Given the description of an element on the screen output the (x, y) to click on. 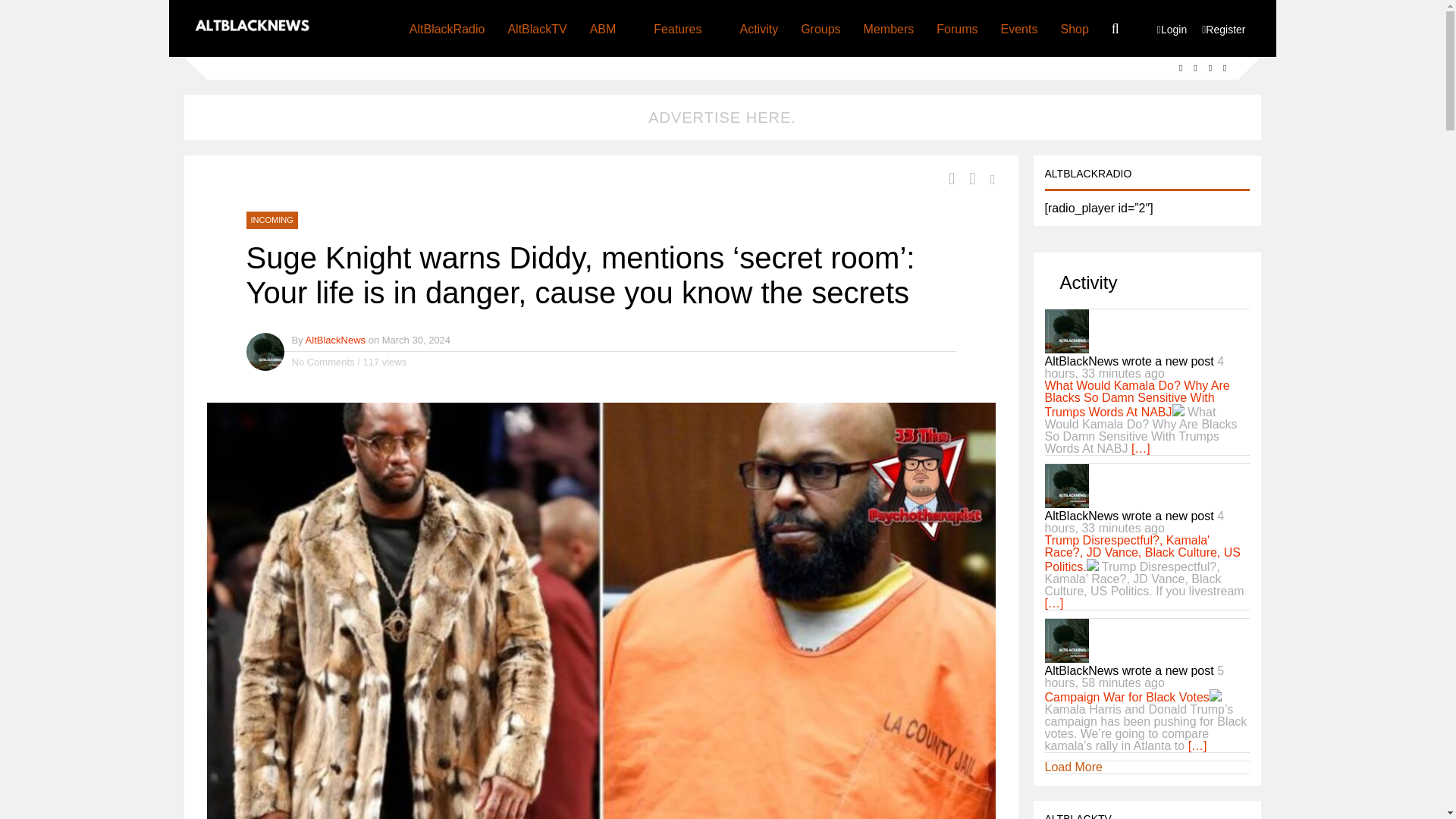
AltBlackTV (536, 28)
AltBlackRadio (446, 28)
